Given the description of an element on the screen output the (x, y) to click on. 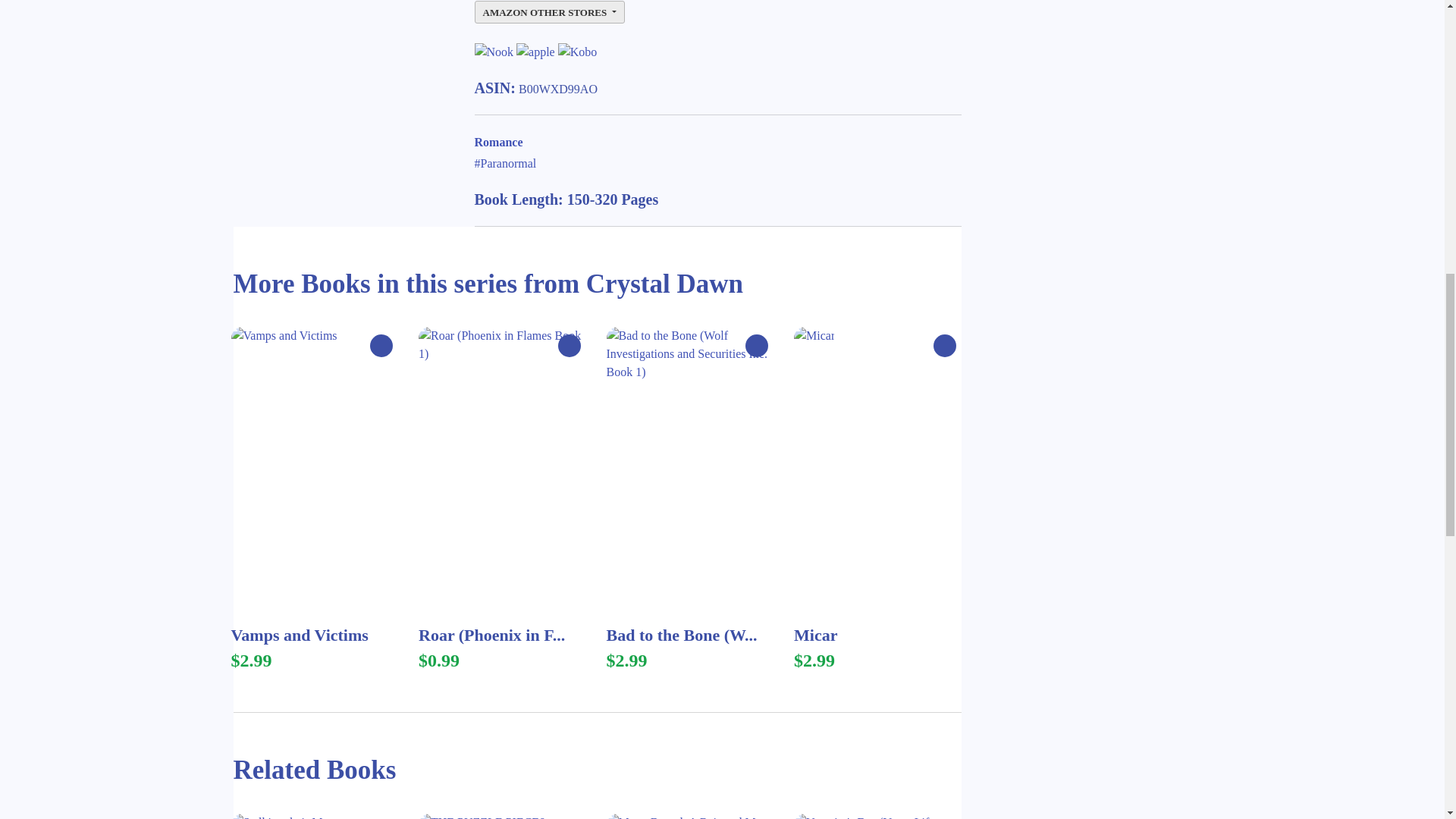
Nook (493, 51)
Apple Books (535, 51)
AMAZON OTHER STORES (548, 12)
Kobo (576, 51)
